Given the description of an element on the screen output the (x, y) to click on. 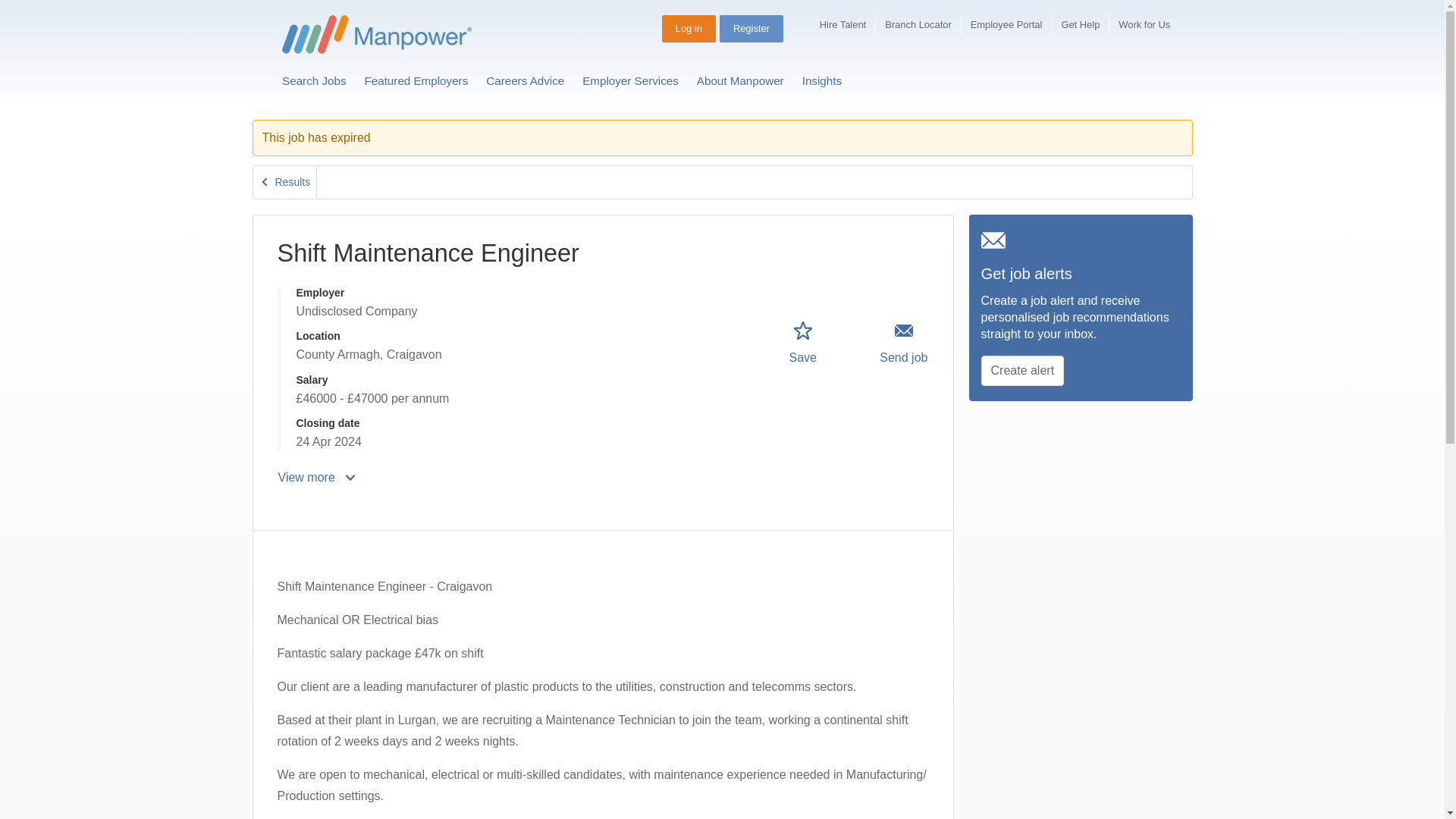
Featured Employers (415, 80)
About Manpower (740, 80)
Results (285, 182)
Create alert (1022, 370)
View more (318, 477)
manpower.co.uk (376, 34)
Employer Services (630, 80)
Employee Portal (1006, 25)
Register (751, 28)
Work for Us (1144, 25)
Get Help (1080, 25)
Log in (689, 28)
Search Jobs (314, 80)
Hire Talent (842, 25)
Careers Advice (525, 80)
